Given the description of an element on the screen output the (x, y) to click on. 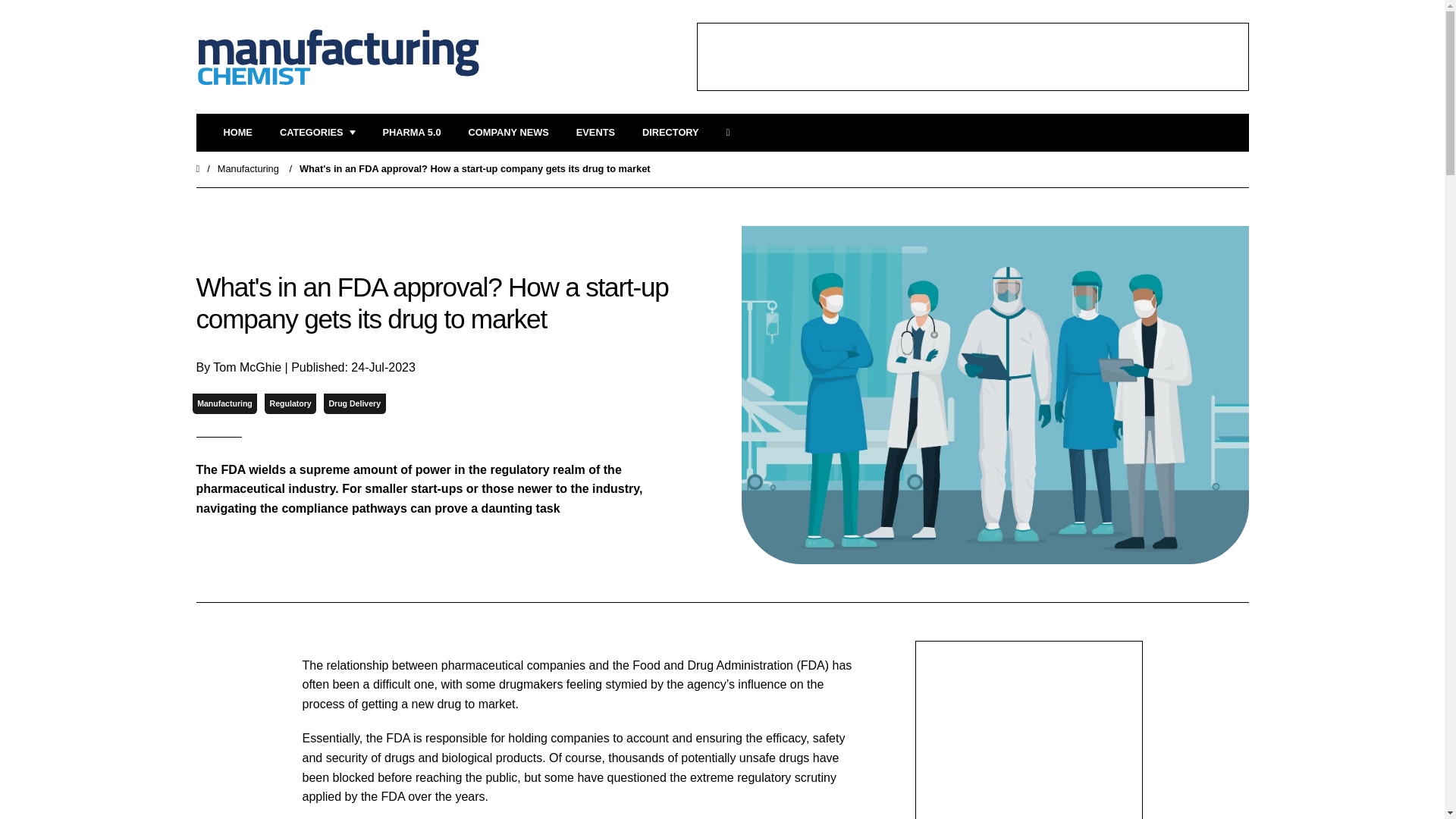
Pharma 5.0 (411, 133)
PHARMA 5.0 (411, 133)
CATEGORIES (317, 133)
Manufacturing (224, 403)
HOME (236, 133)
Directory (670, 133)
Manufacturing (247, 168)
COMPANY NEWS (508, 133)
SEARCH (732, 133)
DIRECTORY (670, 133)
Regulatory (289, 403)
Drug Delivery (354, 403)
EVENTS (595, 133)
